Given the description of an element on the screen output the (x, y) to click on. 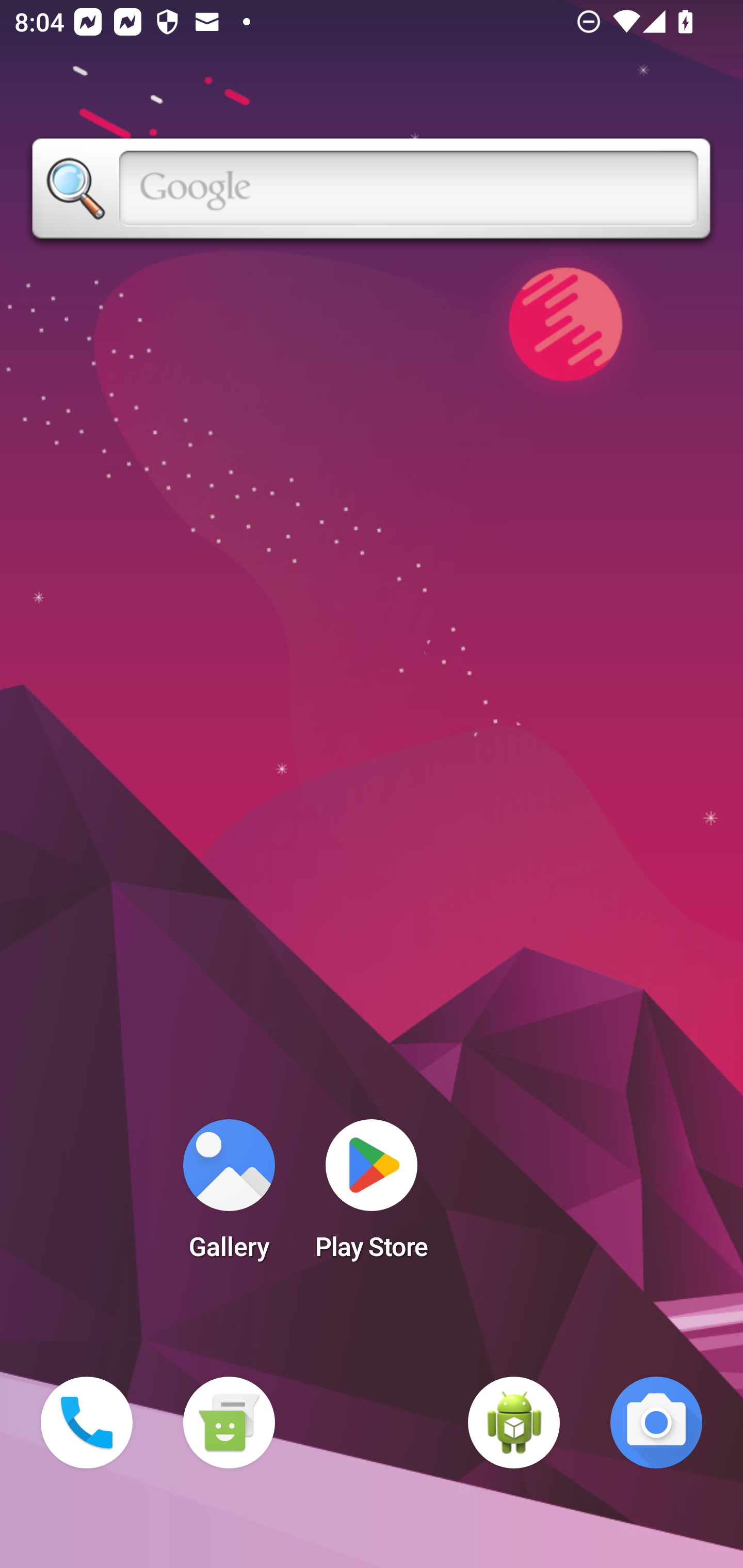
Gallery (228, 1195)
Play Store (371, 1195)
Phone (86, 1422)
Messaging (228, 1422)
WebView Browser Tester (513, 1422)
Camera (656, 1422)
